Given the description of an element on the screen output the (x, y) to click on. 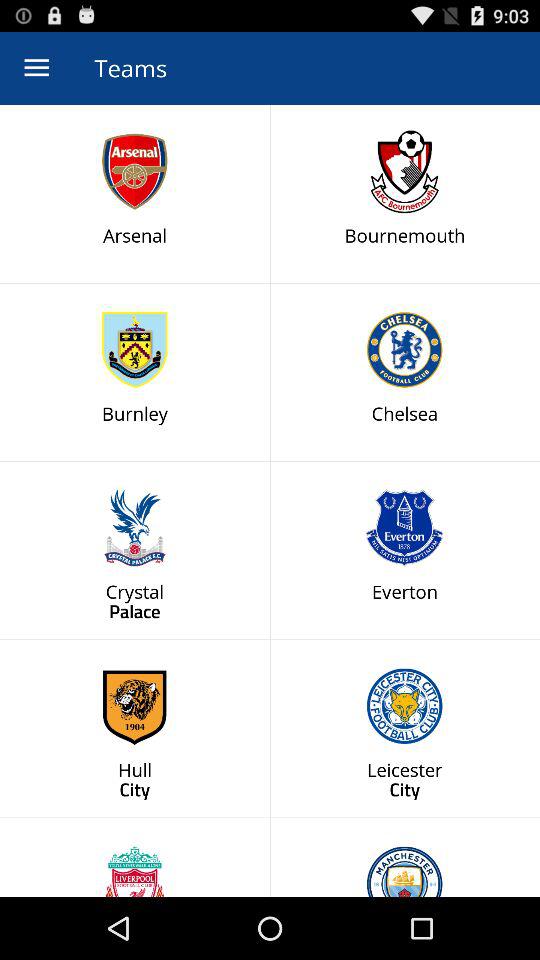
select the item to the left of the teams (36, 68)
